Given the description of an element on the screen output the (x, y) to click on. 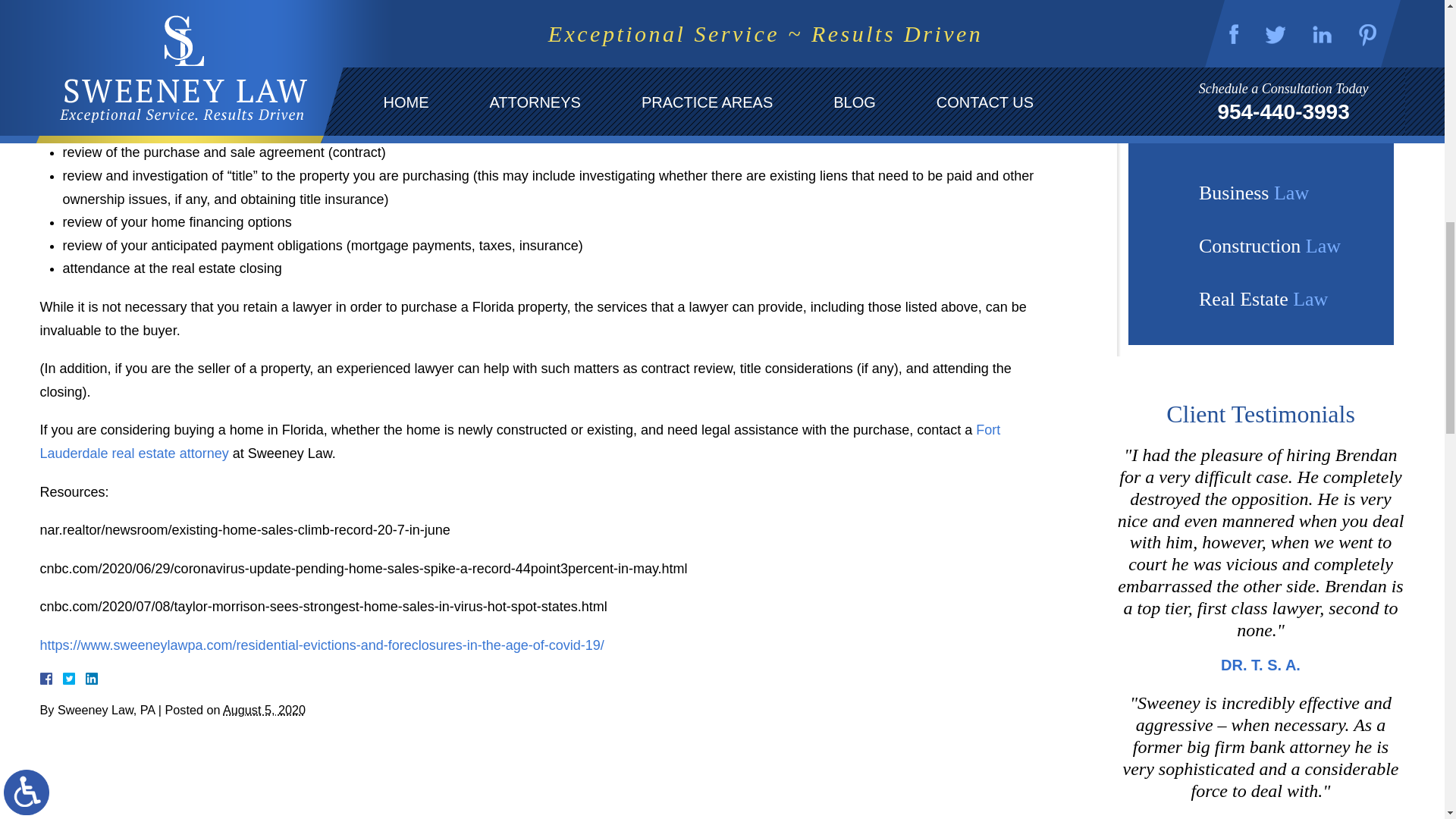
Facebook (63, 678)
Fort Lauderdale real estate attorney (519, 441)
LinkedIn (85, 678)
2020-08-05T11:19:29-0700 (263, 709)
Twitter (74, 678)
